Given the description of an element on the screen output the (x, y) to click on. 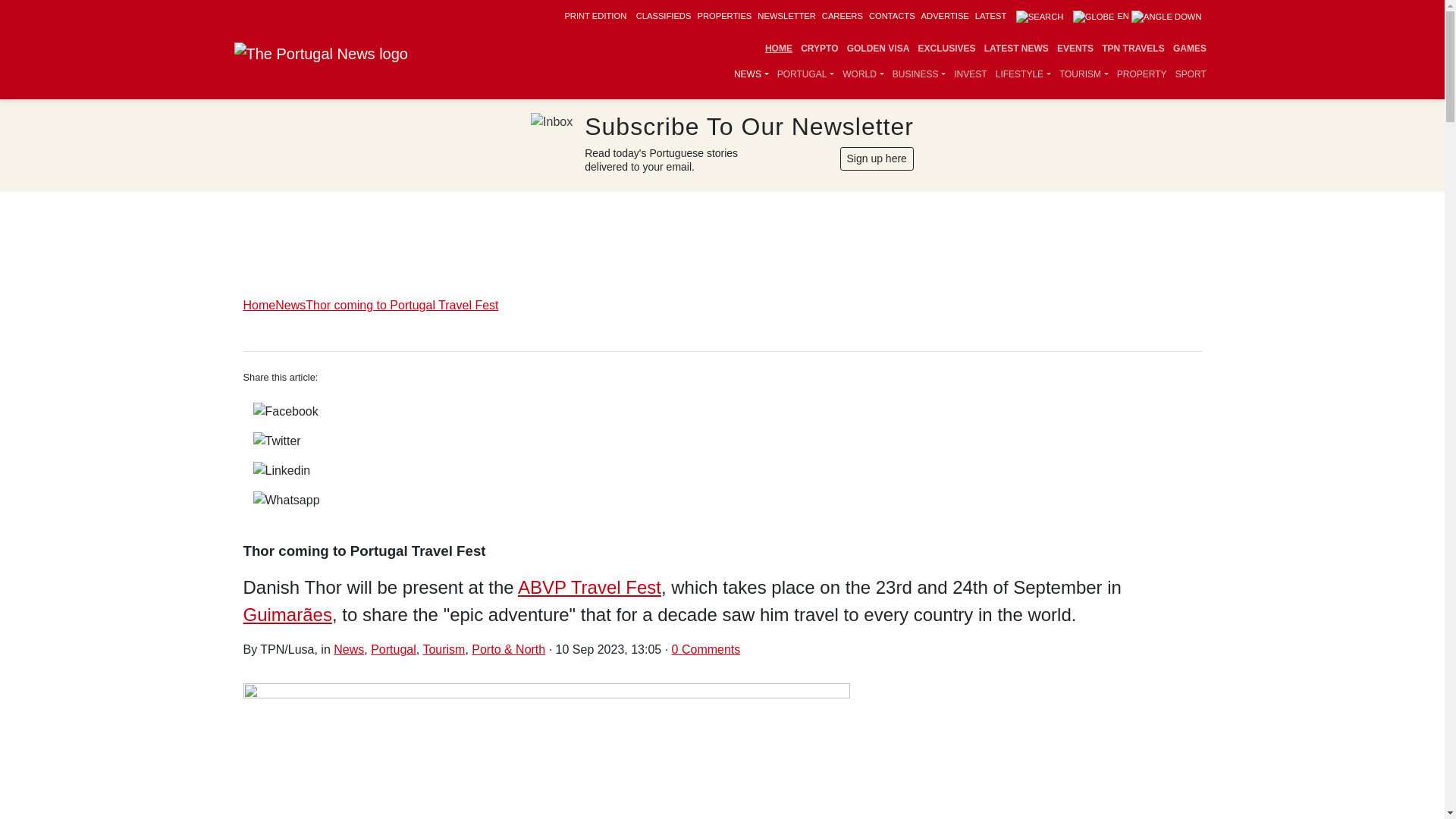
EVENTS (1074, 48)
NEWSLETTER (786, 15)
GOLDEN VISA (878, 48)
Thor coming to Portugal Travel Fest (722, 751)
LATEST NEWS (1015, 48)
CLASSIFIEDS (663, 15)
GAMES (1189, 48)
PROPERTIES (724, 15)
TPN TRAVELS (1133, 48)
NEWS (751, 73)
